Given the description of an element on the screen output the (x, y) to click on. 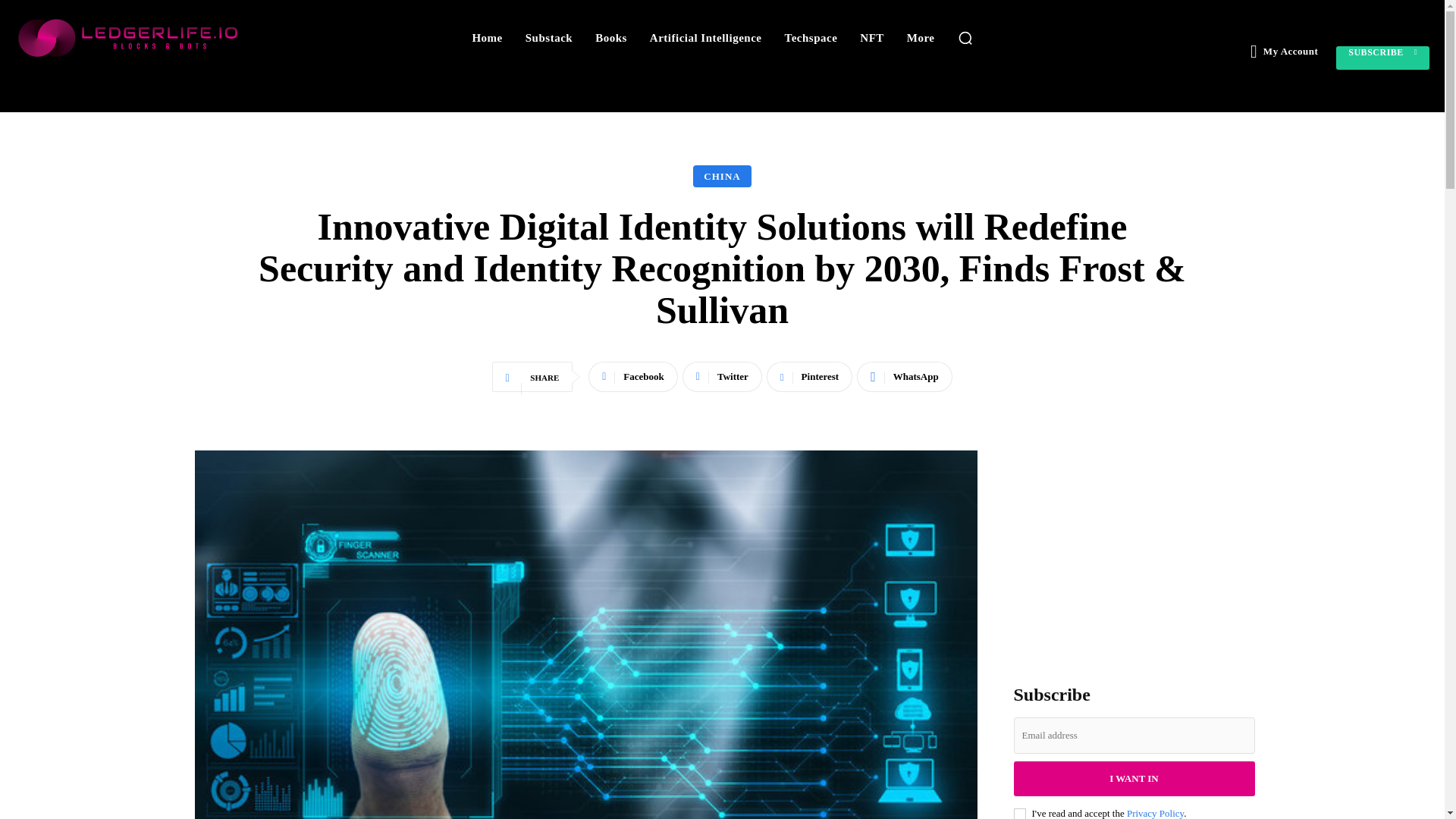
Artificial Intelligence (706, 38)
Subscribe (1382, 57)
Twitter (721, 376)
WhatsApp (904, 376)
Techspace (811, 38)
SUBSCRIBE (1382, 57)
Facebook (633, 376)
Pinterest (809, 376)
